Given the description of an element on the screen output the (x, y) to click on. 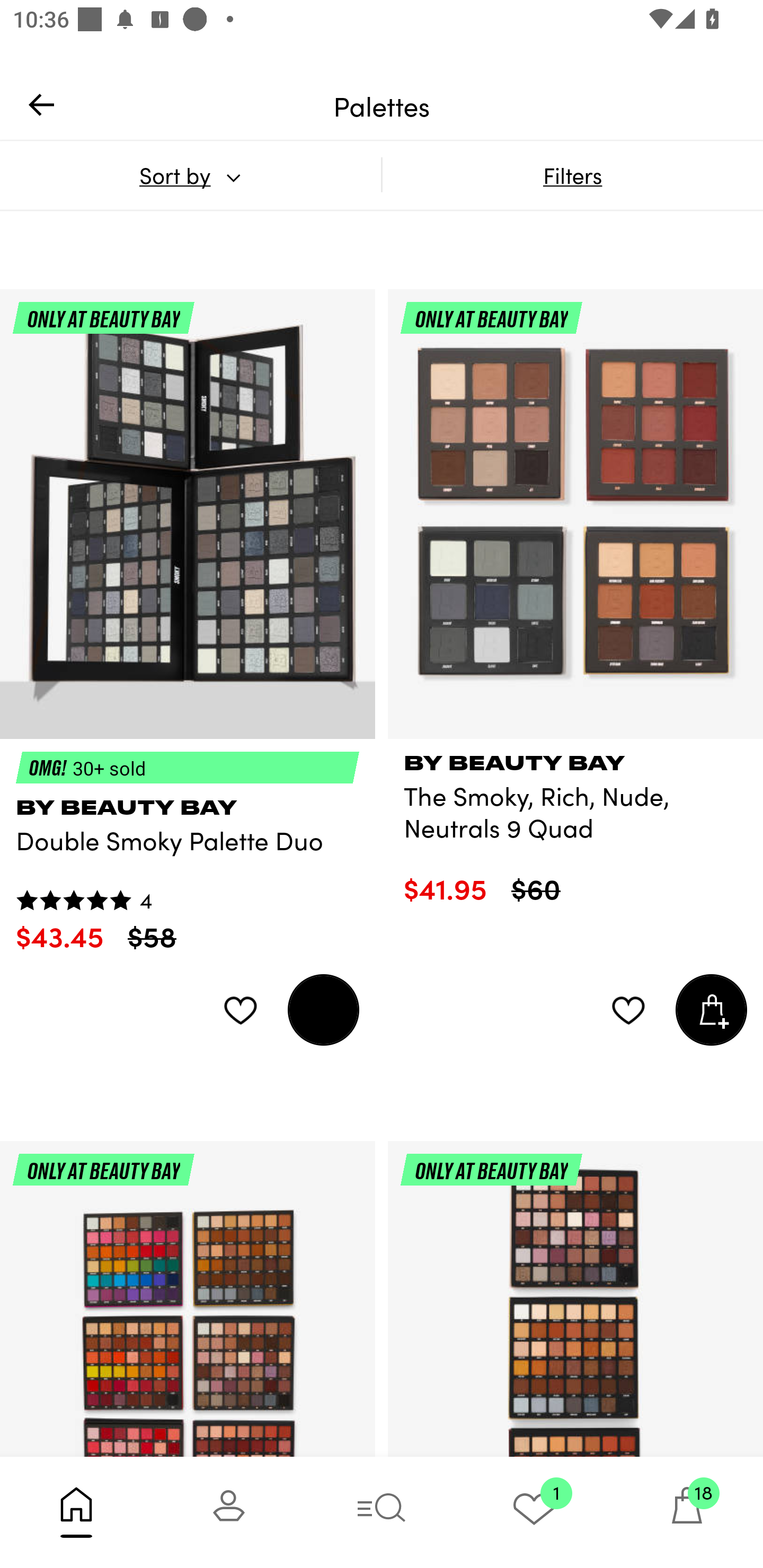
Sort by (190, 174)
Filters (572, 174)
1 (533, 1512)
18 (686, 1512)
